Given the description of an element on the screen output the (x, y) to click on. 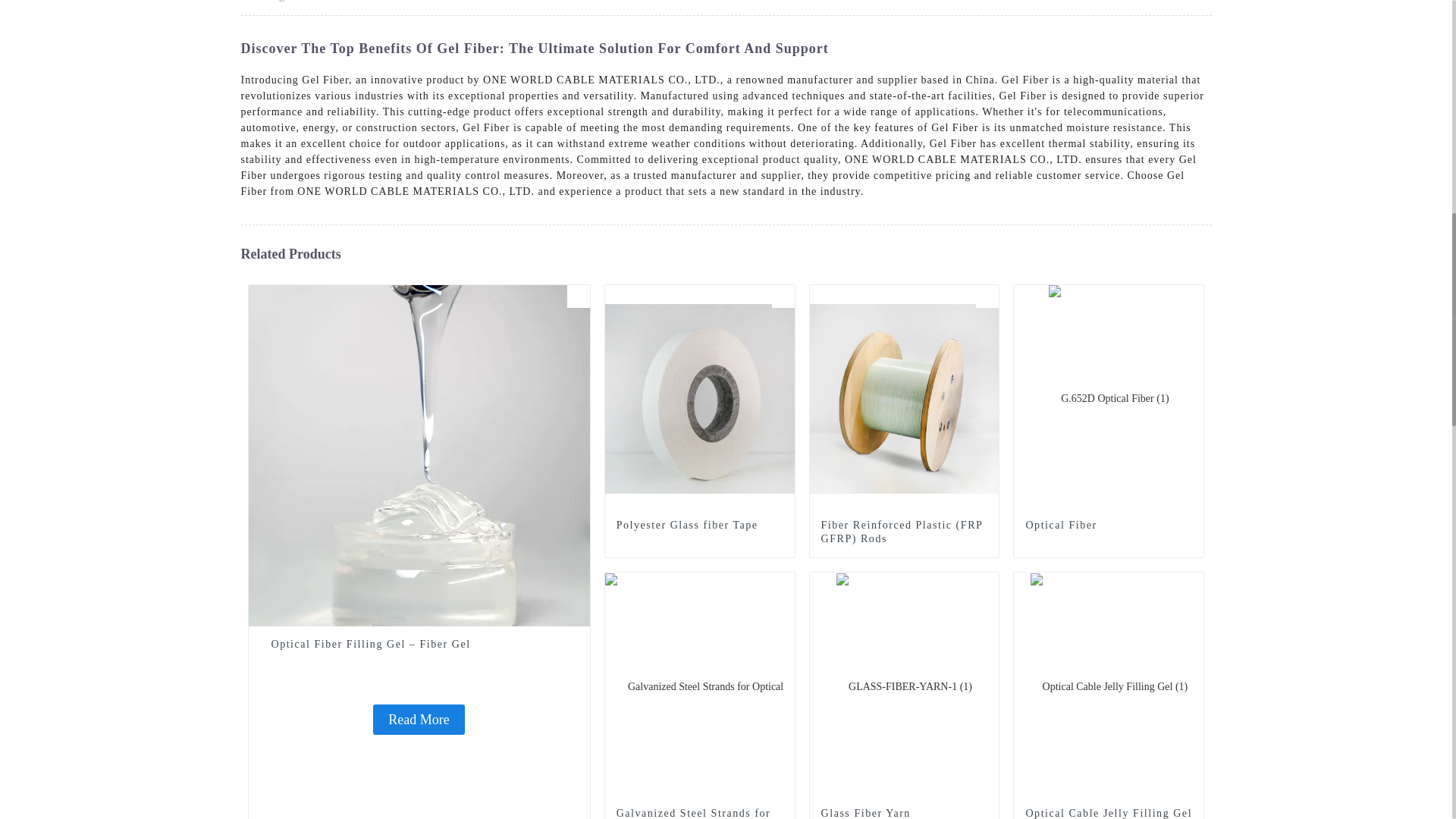
Optical Fiber (1108, 525)
Polyester Glass fiber Tape (699, 525)
Galvanized Steel Strands for Optical Fiber Cables (699, 685)
Optical Fiber (1108, 525)
Glass Fiber Yarn (904, 812)
Getting started (283, 0)
Gel Fiber (363, 0)
Glass Fiber Yarn (903, 685)
Read More (418, 719)
Polyester Glass fiber Tape (699, 525)
